Given the description of an element on the screen output the (x, y) to click on. 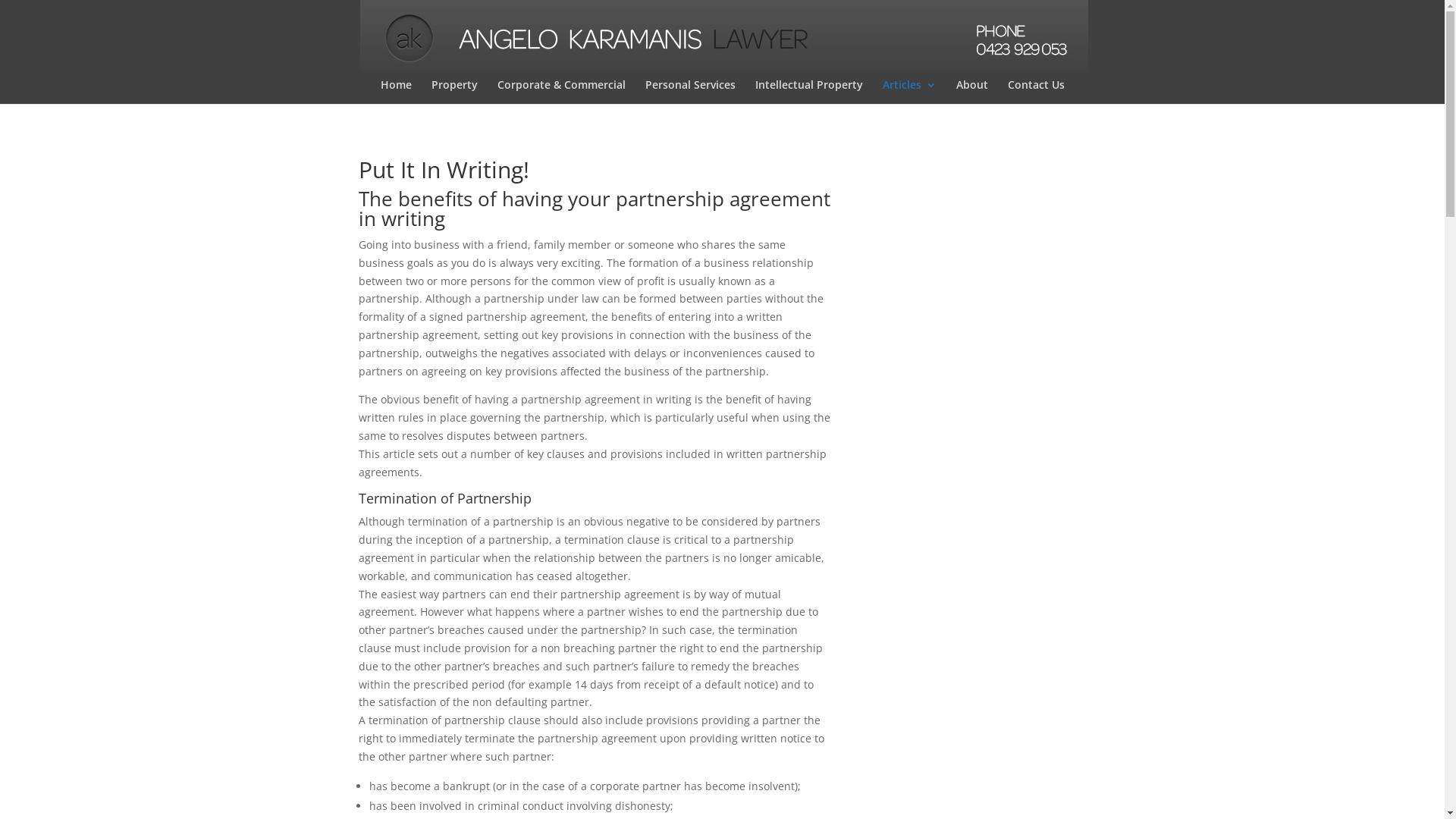
Property Element type: text (453, 91)
Home Element type: text (395, 91)
About Element type: text (971, 91)
Personal Services Element type: text (689, 91)
Contact Us Element type: text (1035, 91)
Articles Element type: text (909, 91)
Intellectual Property Element type: text (808, 91)
Corporate & Commercial Element type: text (561, 91)
